Given the description of an element on the screen output the (x, y) to click on. 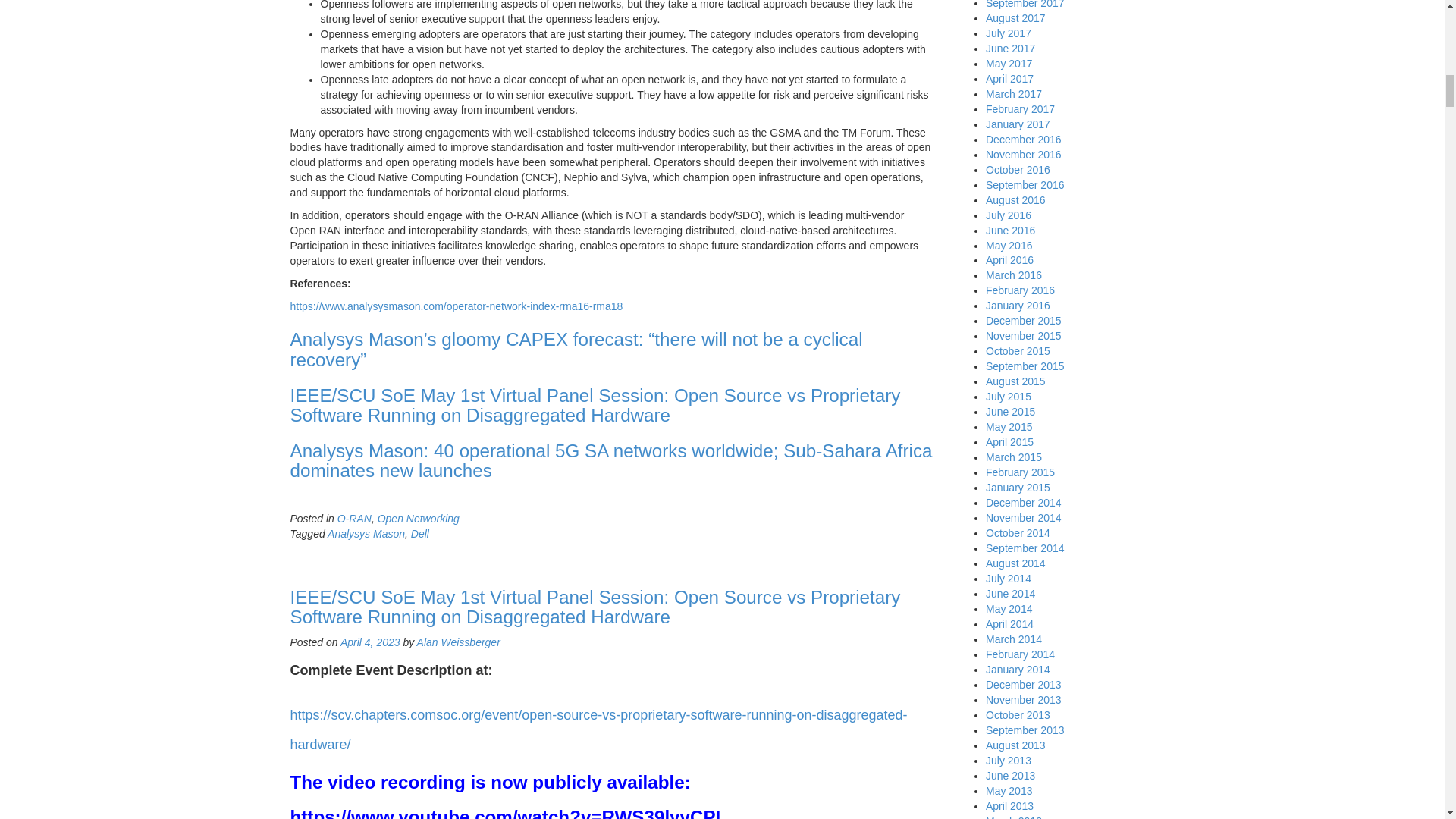
Analysys Mason (365, 533)
Dell (419, 533)
Alan Weissberger (458, 642)
Open Networking (418, 518)
April 4, 2023 (370, 642)
O-RAN (354, 518)
